Given the description of an element on the screen output the (x, y) to click on. 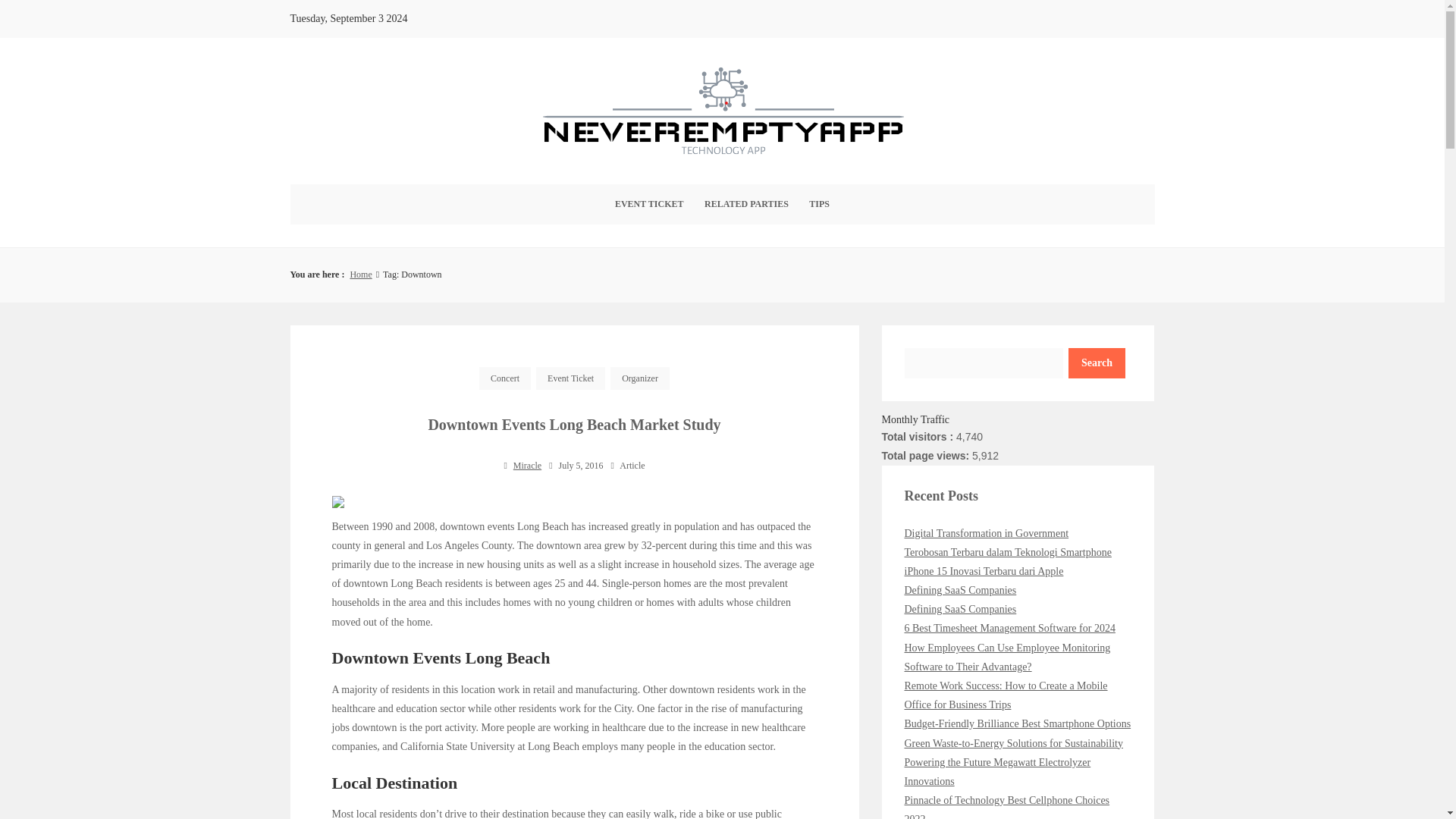
Downtown Events Long Beach Market Study (574, 424)
Organizer (639, 377)
RELATED PARTIES (746, 204)
Concert (505, 377)
Search (1096, 363)
Posts by Miracle (527, 465)
Miracle (527, 465)
EVENT TICKET (649, 204)
Event Ticket (570, 377)
Home (360, 274)
